Given the description of an element on the screen output the (x, y) to click on. 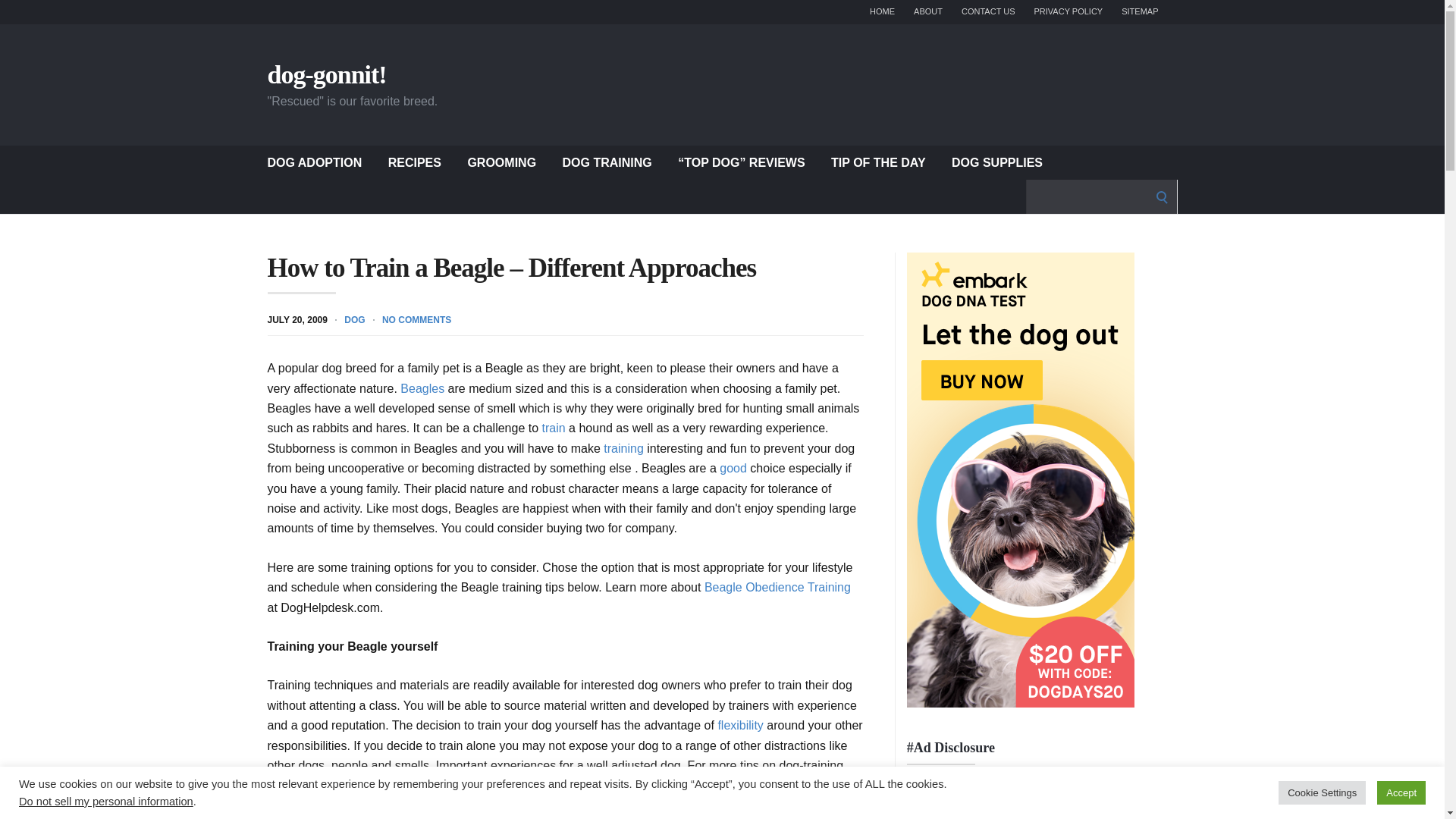
Search (16, 17)
HOME (882, 11)
training (623, 448)
DOG SUPPLIES (997, 162)
ABOUT (928, 11)
flexibility (739, 725)
dog-gonnit! (325, 74)
DOG (354, 318)
RECIPES (414, 162)
Beagles (422, 388)
CONTACT US (987, 11)
Posts tagged with Good (732, 468)
SITEMAP (1139, 11)
DOG TRAINING (607, 162)
Beagle Obedience Training (777, 586)
